Given the description of an element on the screen output the (x, y) to click on. 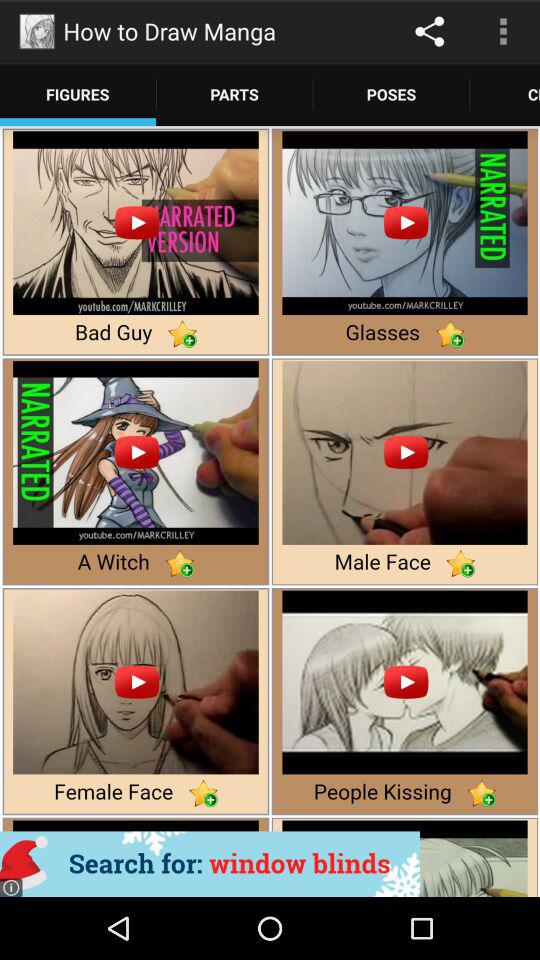
advertisement banner (210, 864)
